Given the description of an element on the screen output the (x, y) to click on. 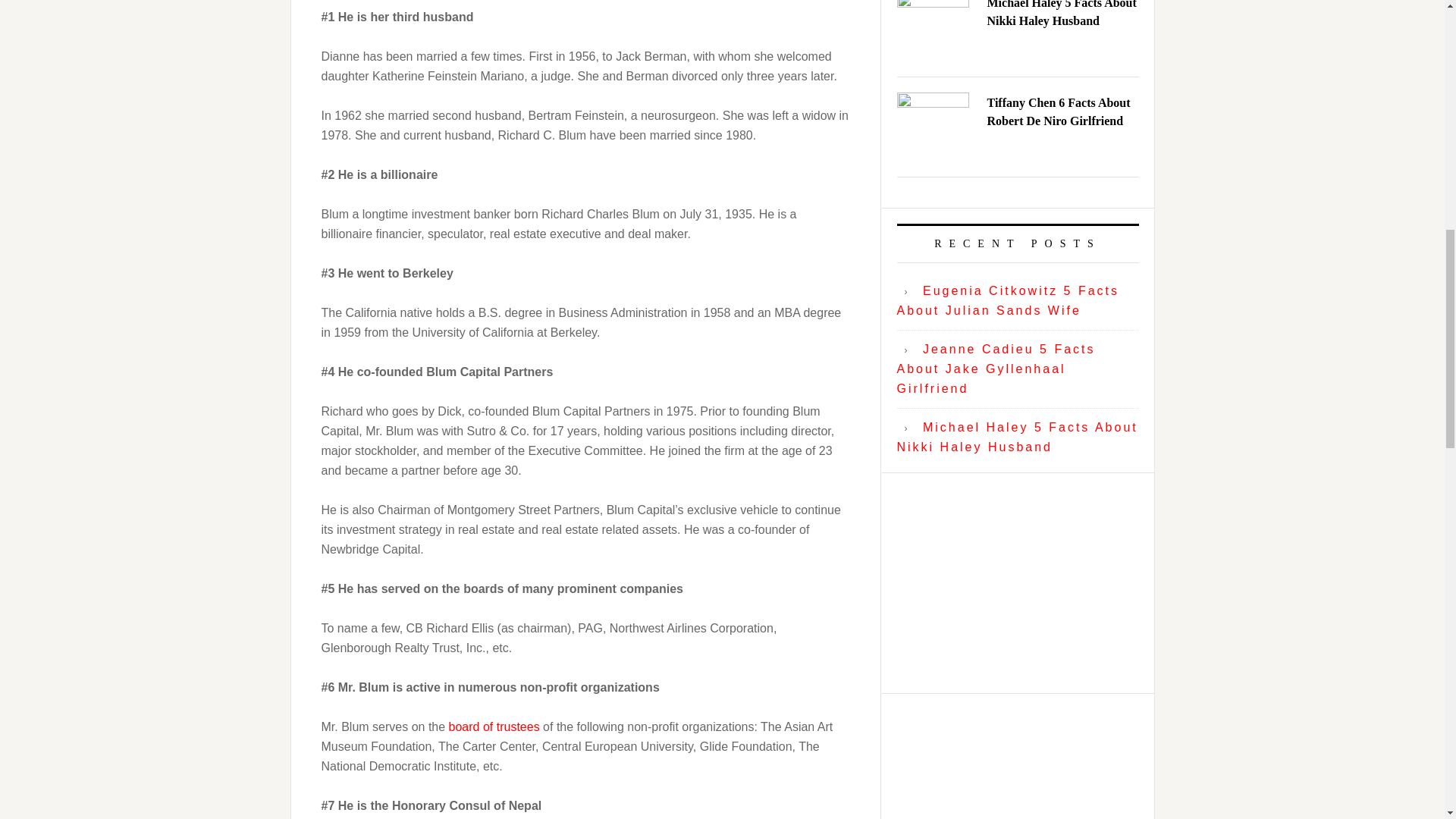
Eugenia Citkowitz 5 Facts About Julian Sands Wife (1007, 300)
Jeanne Cadieu 5 Facts About Jake Gyllenhaal Girlfriend (995, 368)
Michael Haley 5 Facts About Nikki Haley Husband (1016, 436)
Michael Haley 5 Facts About Nikki Haley Husband (1062, 13)
board of trustees (494, 726)
Tiffany Chen 6 Facts About Robert De Niro Girlfriend (1059, 111)
